Given the description of an element on the screen output the (x, y) to click on. 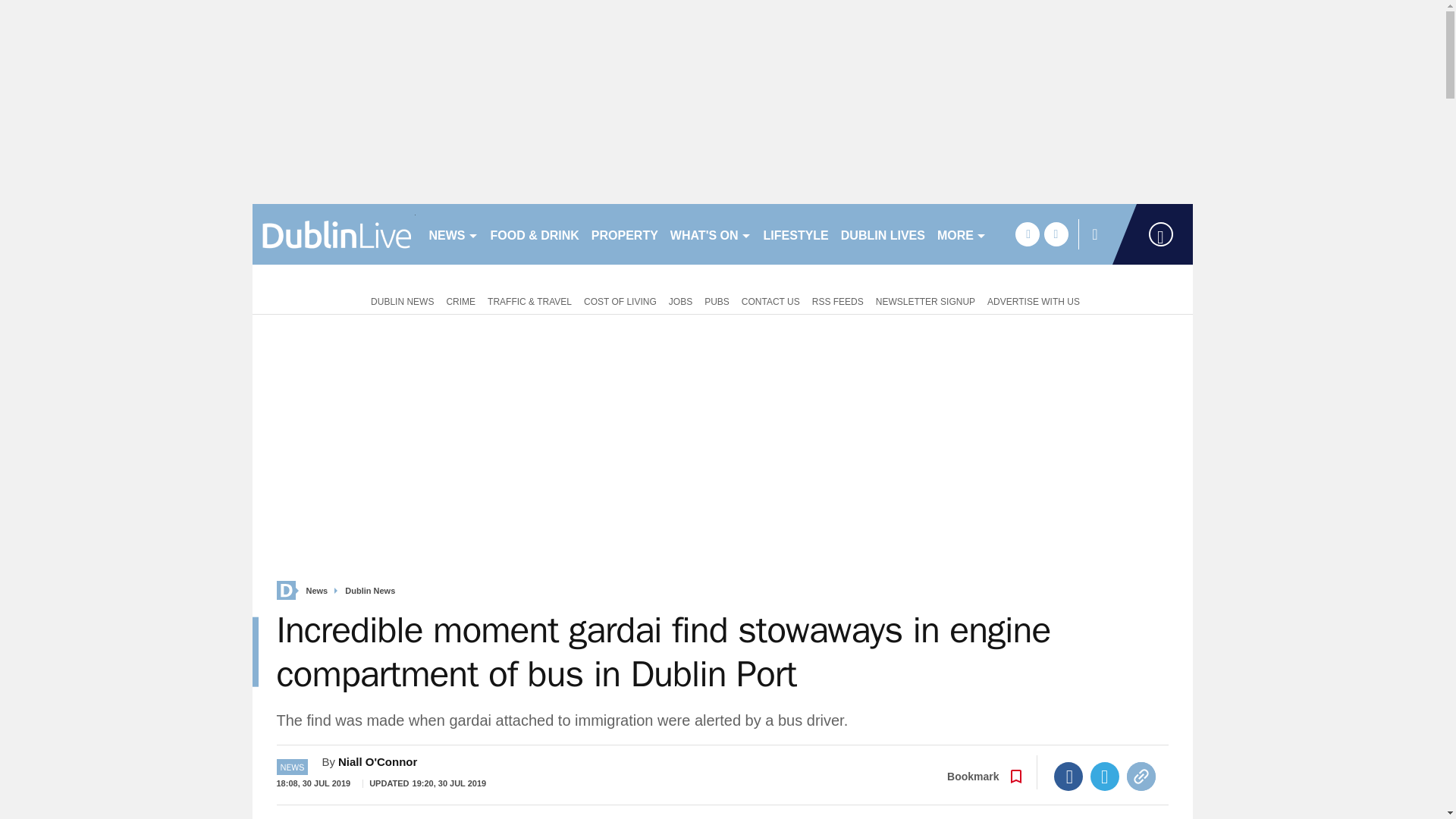
LIFESTYLE (795, 233)
facebook (1026, 233)
MORE (961, 233)
WHAT'S ON (710, 233)
Twitter (1104, 776)
NEWS (453, 233)
PROPERTY (624, 233)
Facebook (1068, 776)
twitter (1055, 233)
dublinlive (332, 233)
